Given the description of an element on the screen output the (x, y) to click on. 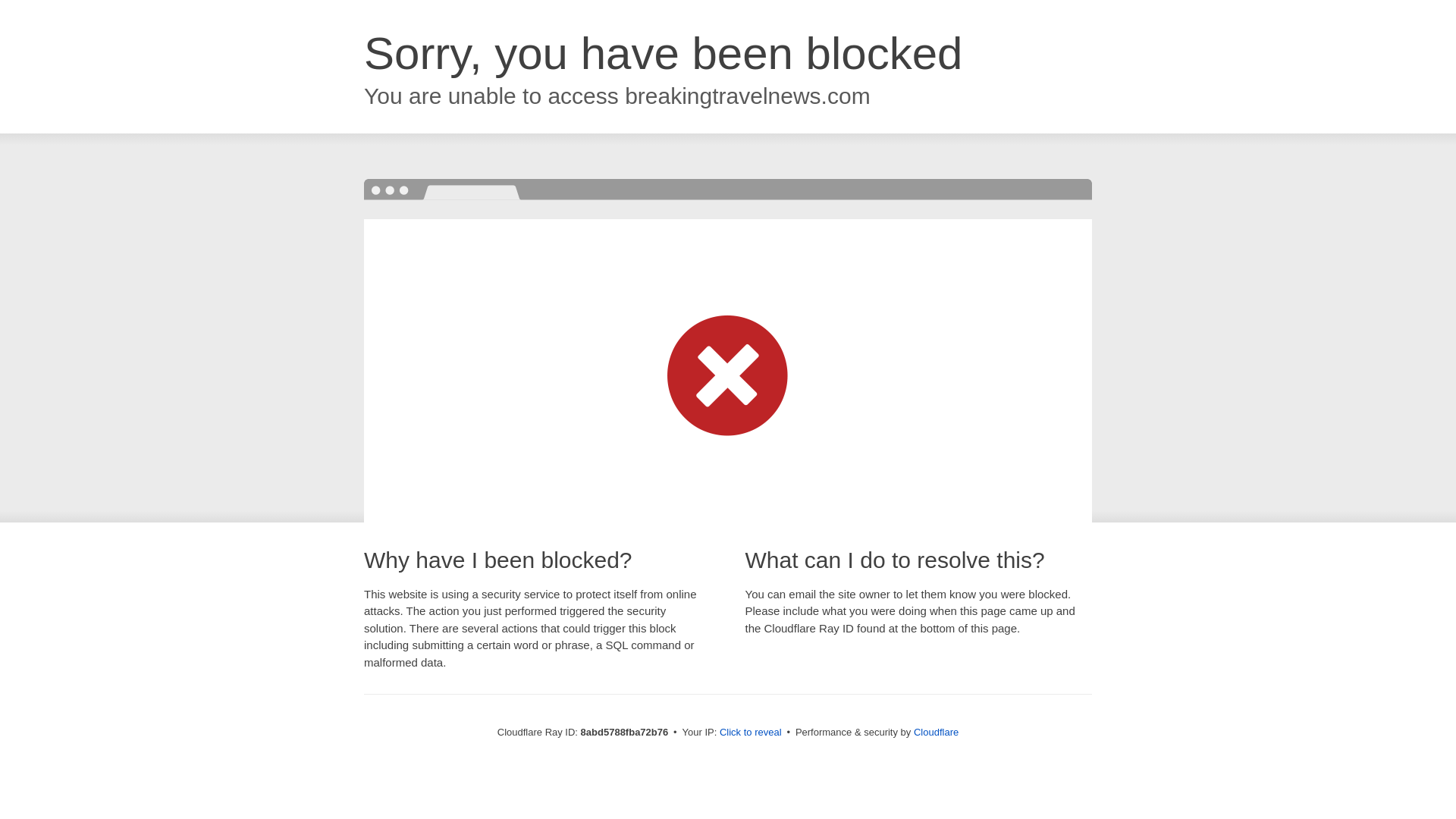
Click to reveal (750, 732)
Cloudflare (936, 731)
